Given the description of an element on the screen output the (x, y) to click on. 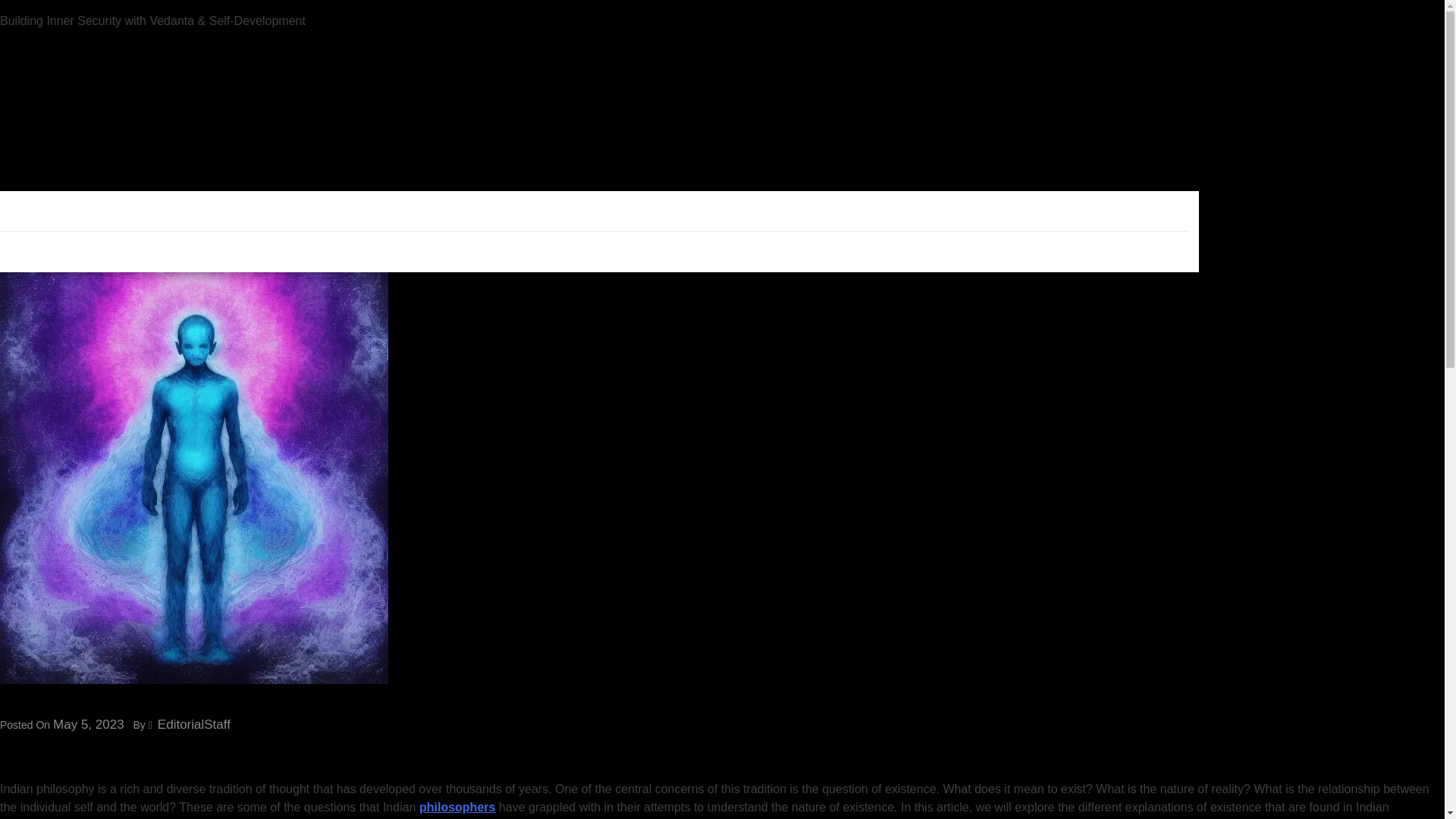
ENGLISH (594, 249)
CONTACT US (721, 119)
HOME (28, 119)
ENGLISH (1043, 119)
View all posts by EditorialStaff (193, 724)
COURSES (397, 119)
MOTIVATION (188, 119)
PRIVACY POLICY (495, 119)
SELF HELP (99, 119)
EditorialStaff (193, 724)
